Given the description of an element on the screen output the (x, y) to click on. 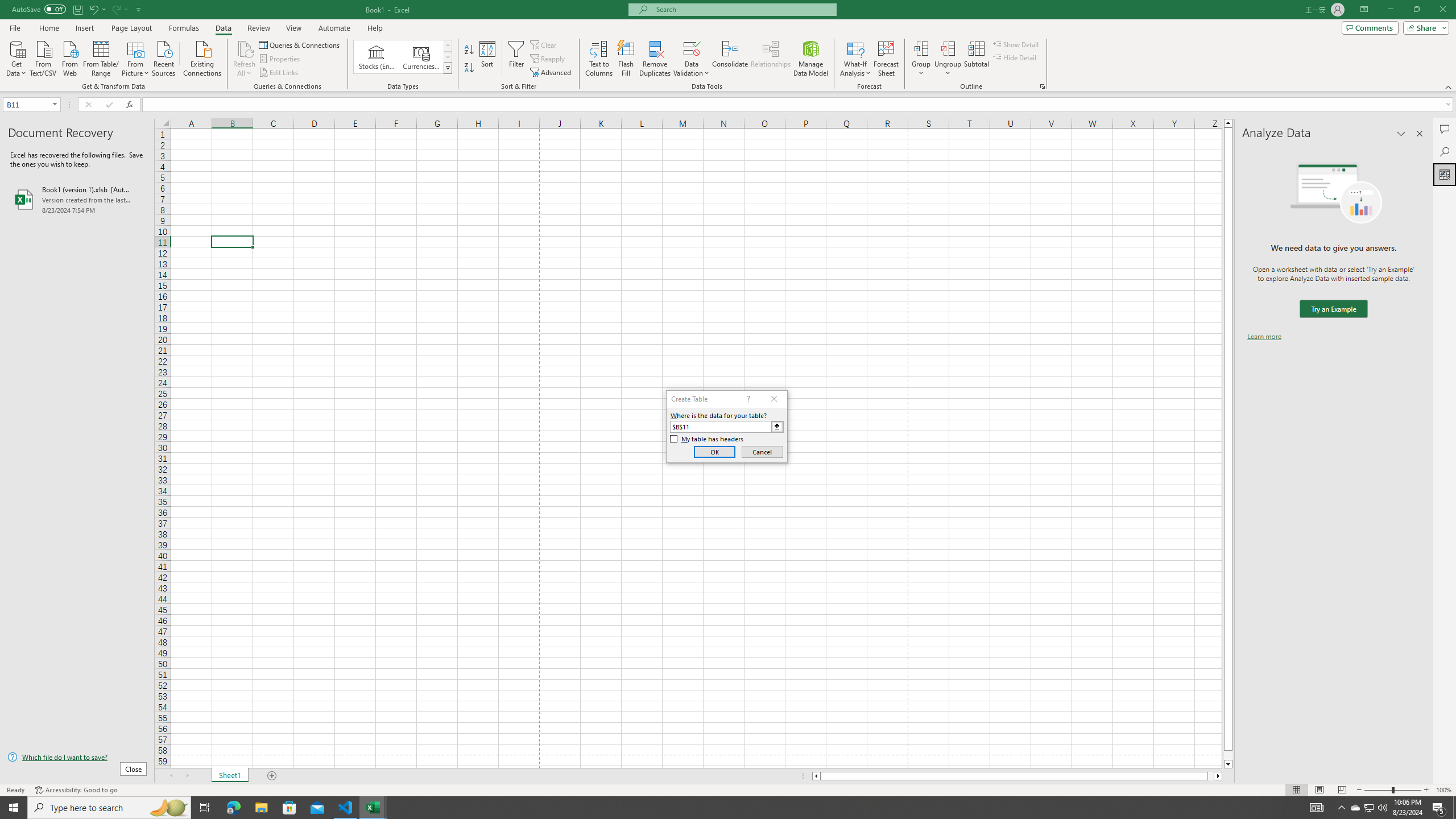
Advanced... (551, 72)
Properties (280, 58)
Relationships (770, 58)
Remove Duplicates (654, 58)
Line down (1228, 764)
Sheet1 (229, 775)
Get Data (16, 57)
Home (48, 28)
Class: NetUIImage (447, 68)
Subtotal (976, 58)
Zoom Out (1377, 790)
Show Detail (1016, 44)
Sort Z to A (469, 67)
Clear (544, 44)
